Given the description of an element on the screen output the (x, y) to click on. 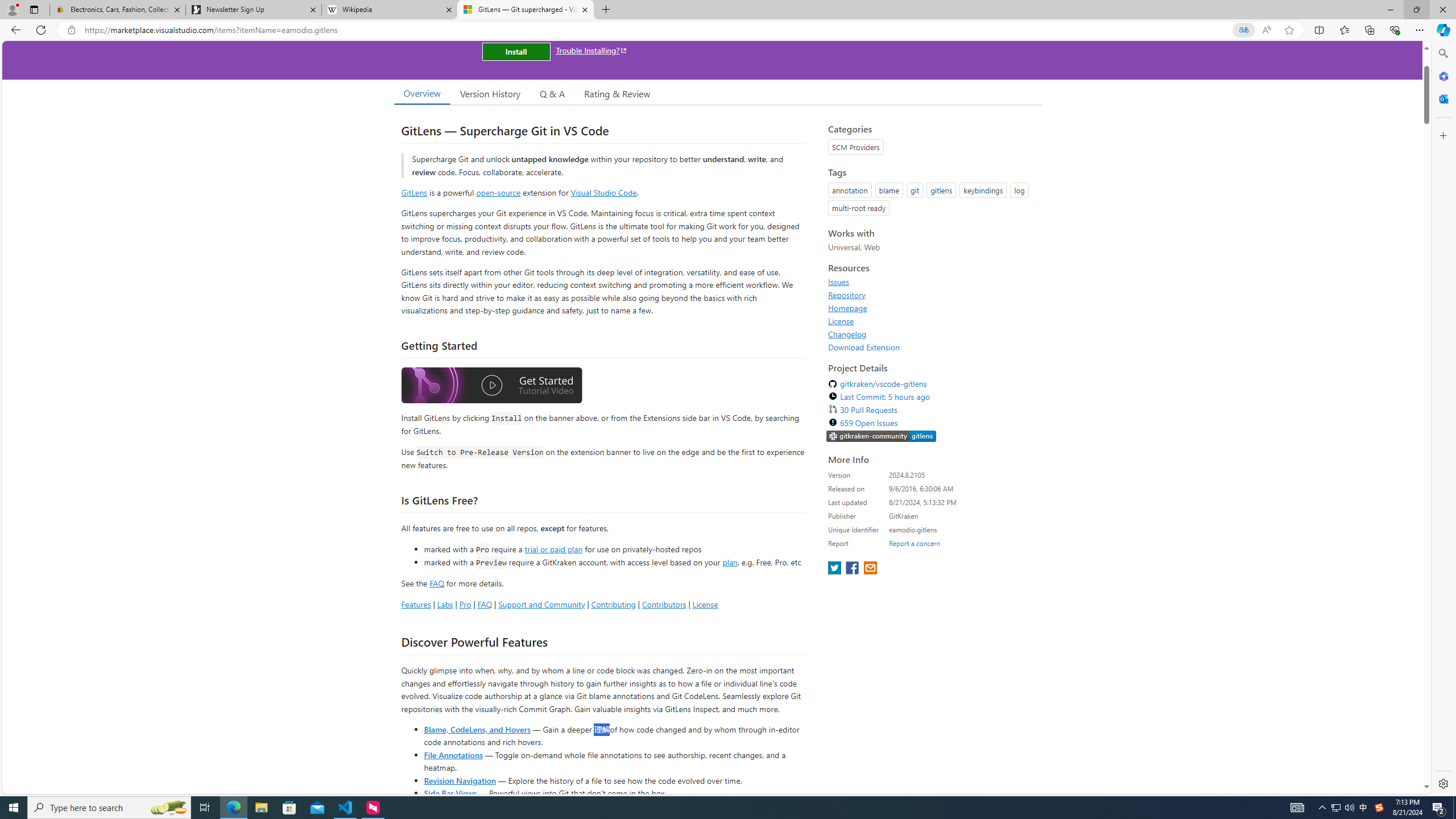
plan (730, 562)
https://slack.gitkraken.com// (881, 436)
Q & A (552, 92)
Add this page to favorites (Ctrl+D) (1289, 29)
Close (1442, 9)
Collections (1369, 29)
https://slack.gitkraken.com// (881, 436)
FAQ (484, 603)
Customize (1442, 135)
